Given the description of an element on the screen output the (x, y) to click on. 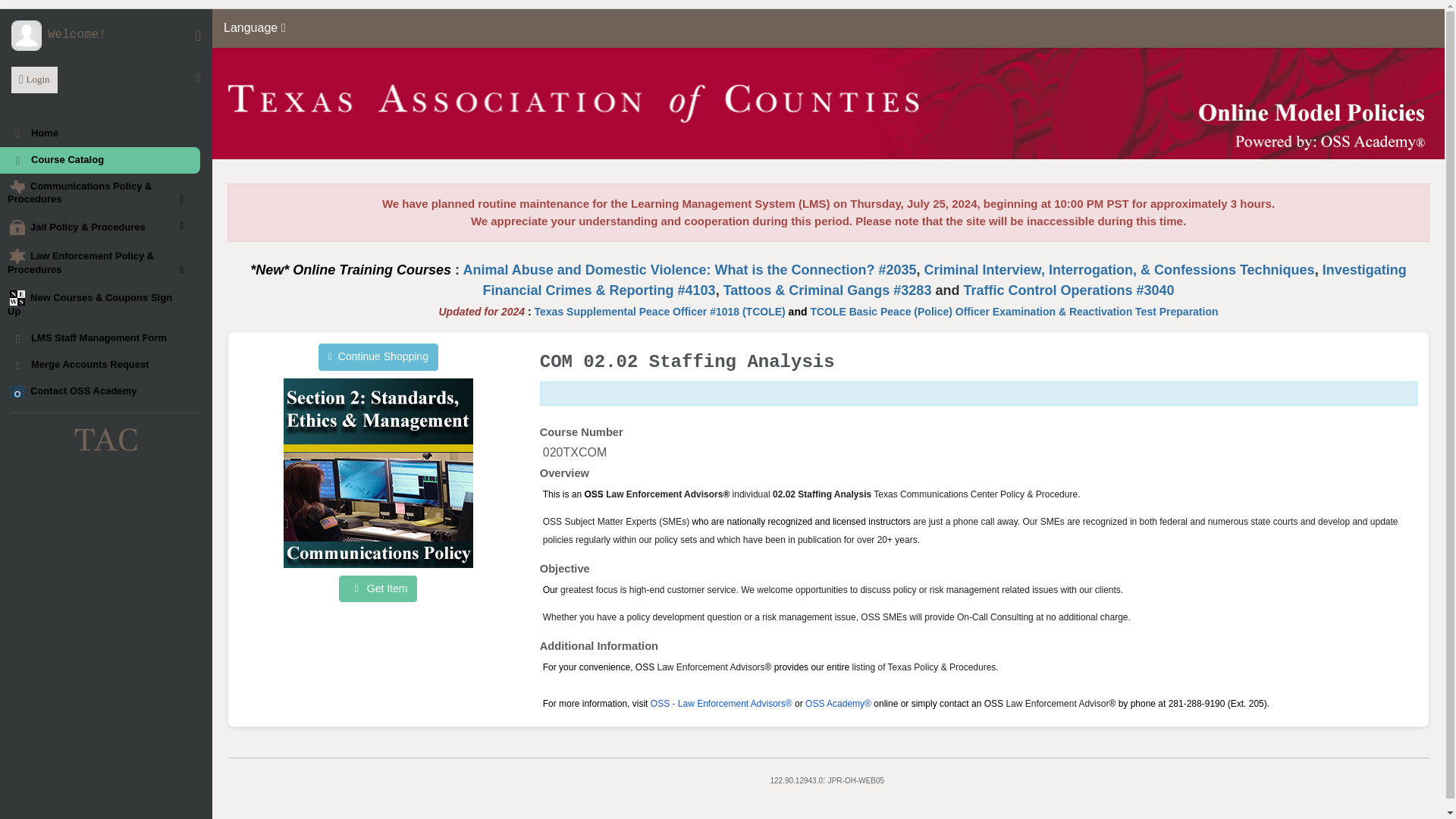
Course Catalog (100, 160)
Home (100, 133)
Login (34, 79)
Login (34, 79)
Language (254, 27)
